Given the description of an element on the screen output the (x, y) to click on. 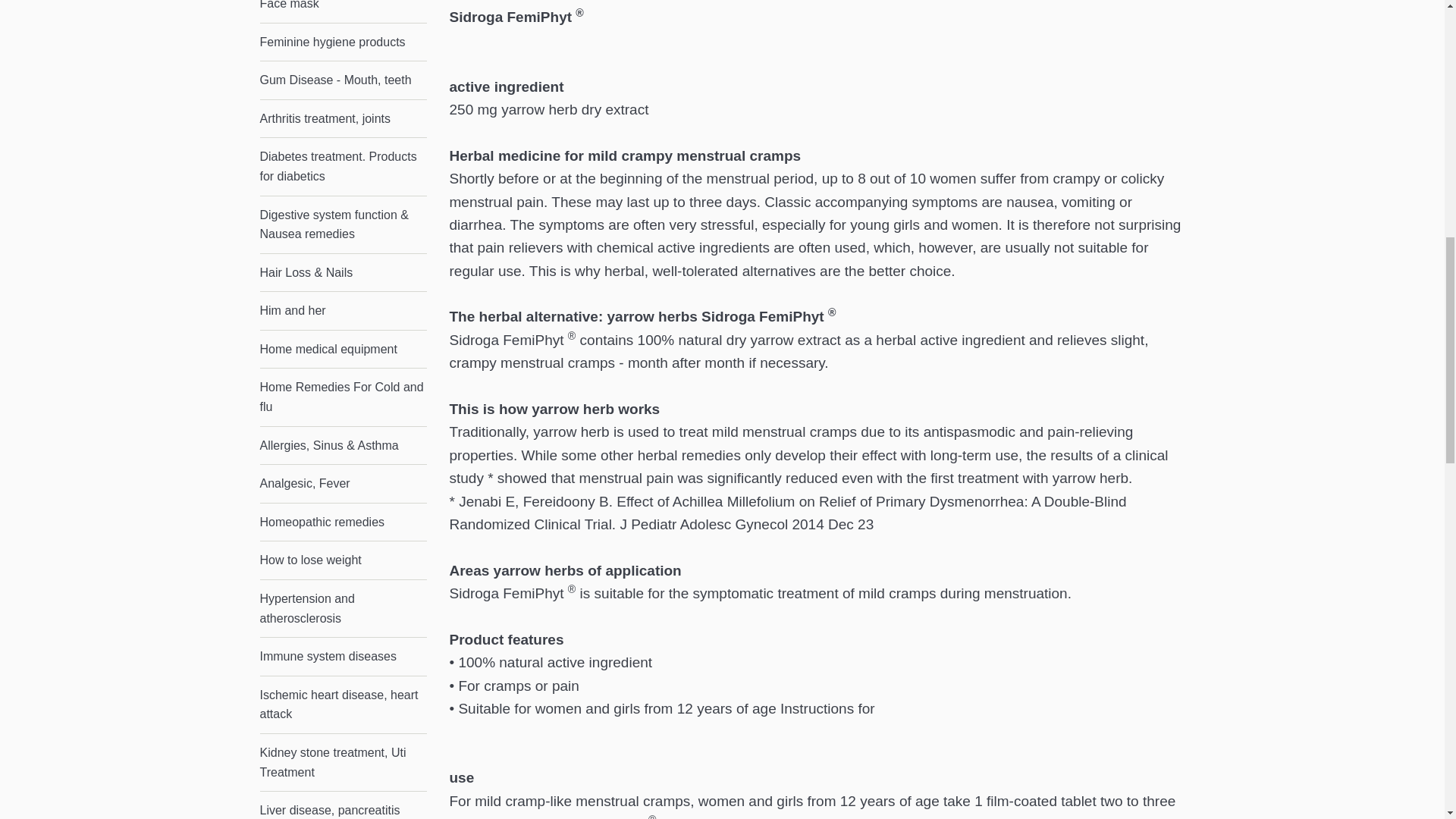
Arthritis treatment, joints (342, 118)
Face mask (342, 11)
Feminine hygiene products (342, 42)
Home medical equipment (342, 349)
Hypertension and atherosclerosis (342, 608)
Analgesic, Fever (342, 483)
Him and her (342, 310)
Homeopathic remedies (342, 522)
Diabetes treatment. Products for diabetics (342, 166)
Gum Disease - Mouth, teeth (342, 80)
Home Remedies For Cold and flu (342, 396)
Immune system diseases (342, 656)
How to lose weight (342, 560)
Ischemic heart disease, heart attack (342, 704)
